Given the description of an element on the screen output the (x, y) to click on. 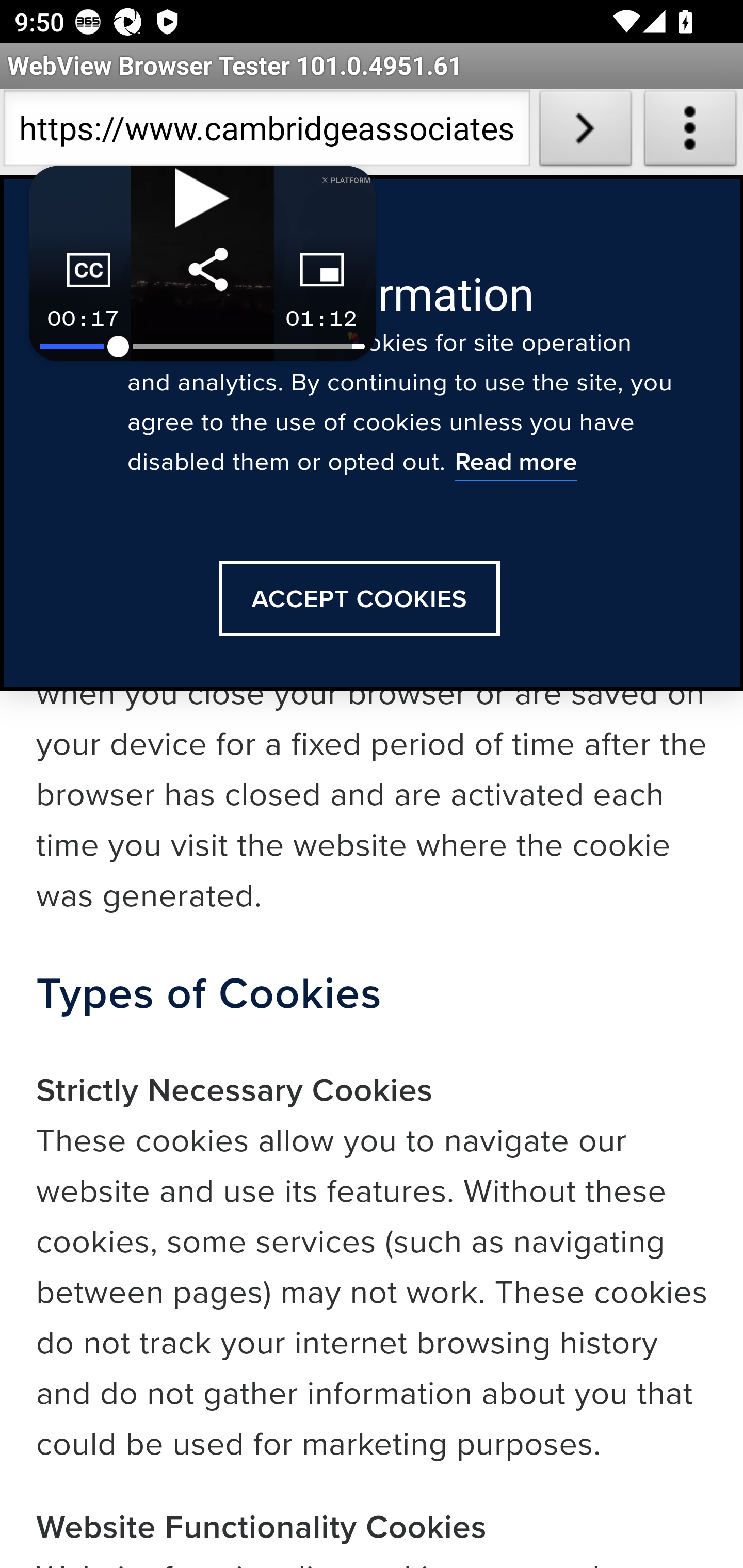
Load URL (585, 132)
About WebView (690, 132)
Read more (515, 464)
ACCEPT COOKIES (359, 598)
